Given the description of an element on the screen output the (x, y) to click on. 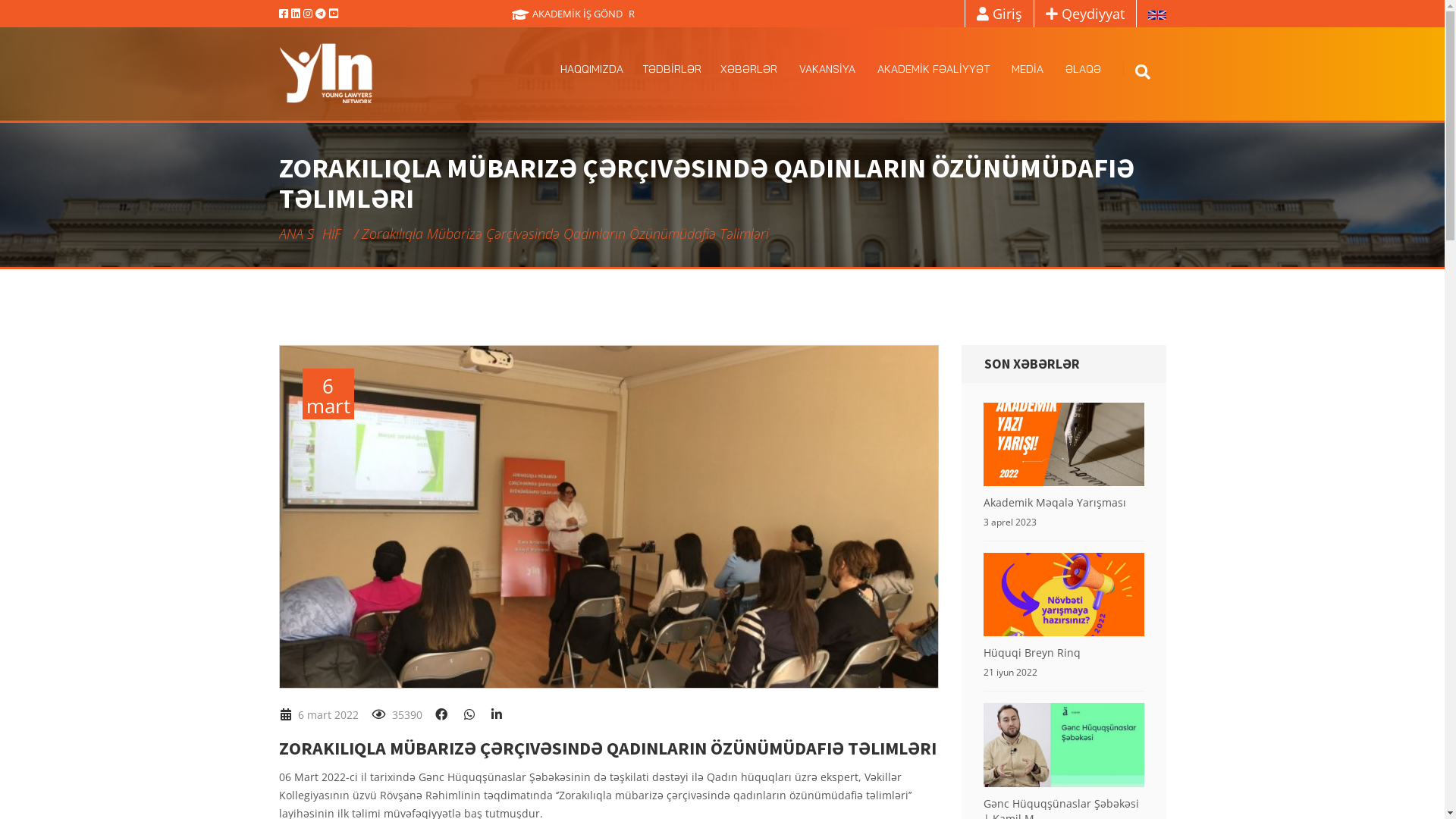
6
mart Element type: text (608, 516)
Qeydiyyat Element type: text (1084, 13)
6 mart 2022 Element type: text (318, 714)
35390 Element type: text (396, 714)
HAQQIMIZDA Element type: text (590, 68)
